Given the description of an element on the screen output the (x, y) to click on. 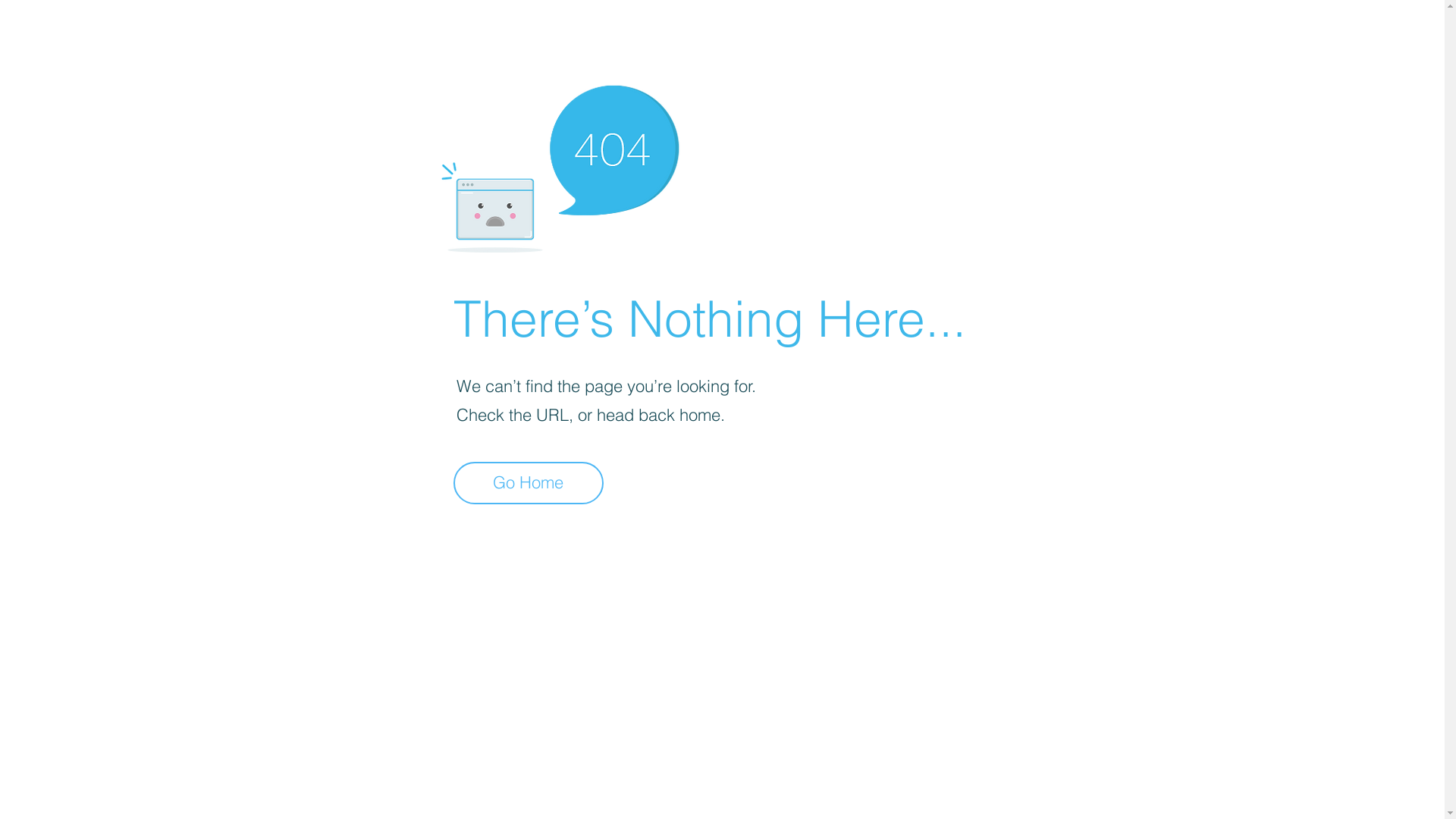
404-icon_2.png Element type: hover (558, 164)
Go Home Element type: text (528, 482)
